Given the description of an element on the screen output the (x, y) to click on. 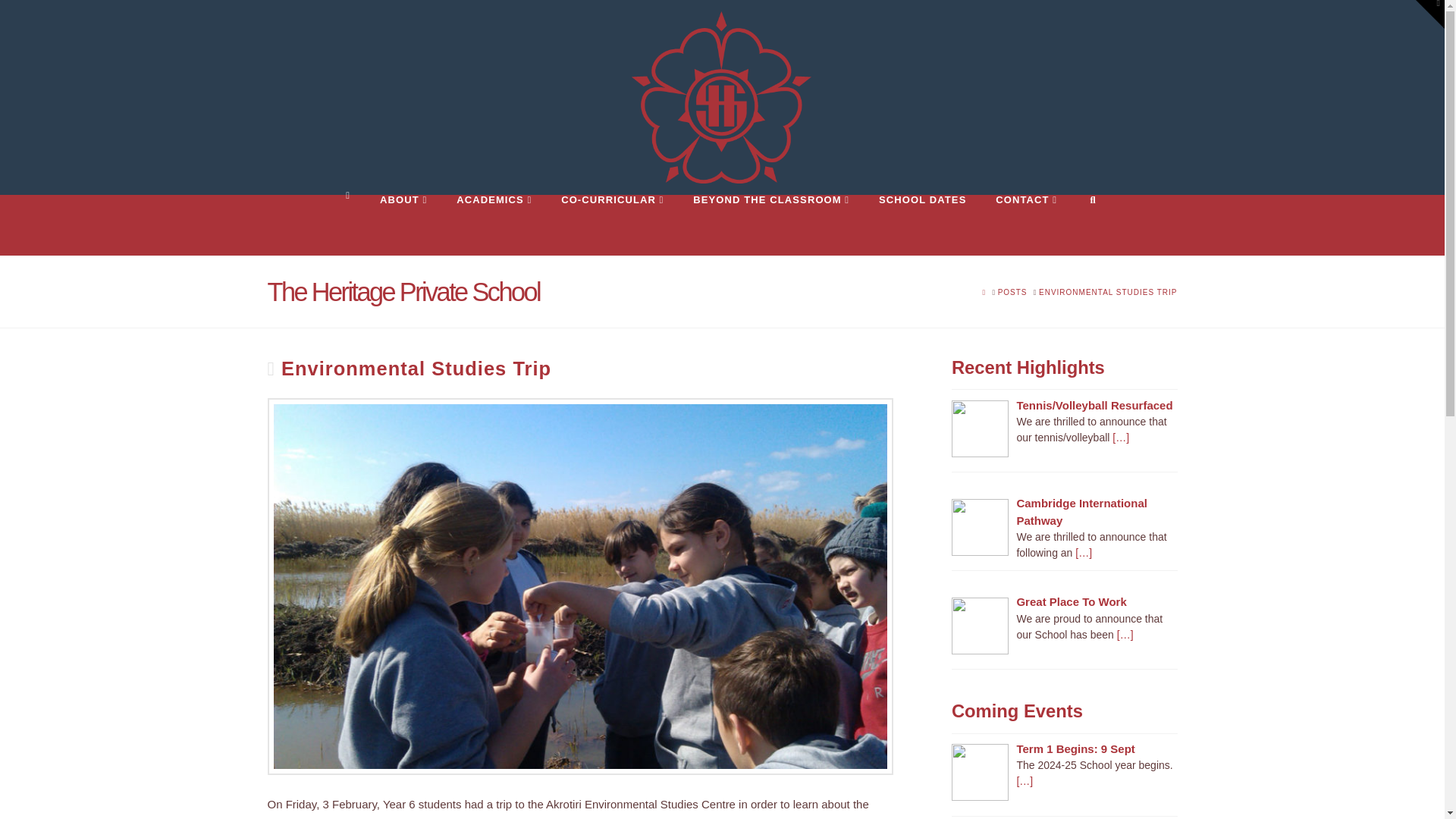
CO-CURRICULAR (612, 224)
You Are Here (1108, 292)
ACADEMICS (493, 224)
ABOUT (403, 224)
